Given the description of an element on the screen output the (x, y) to click on. 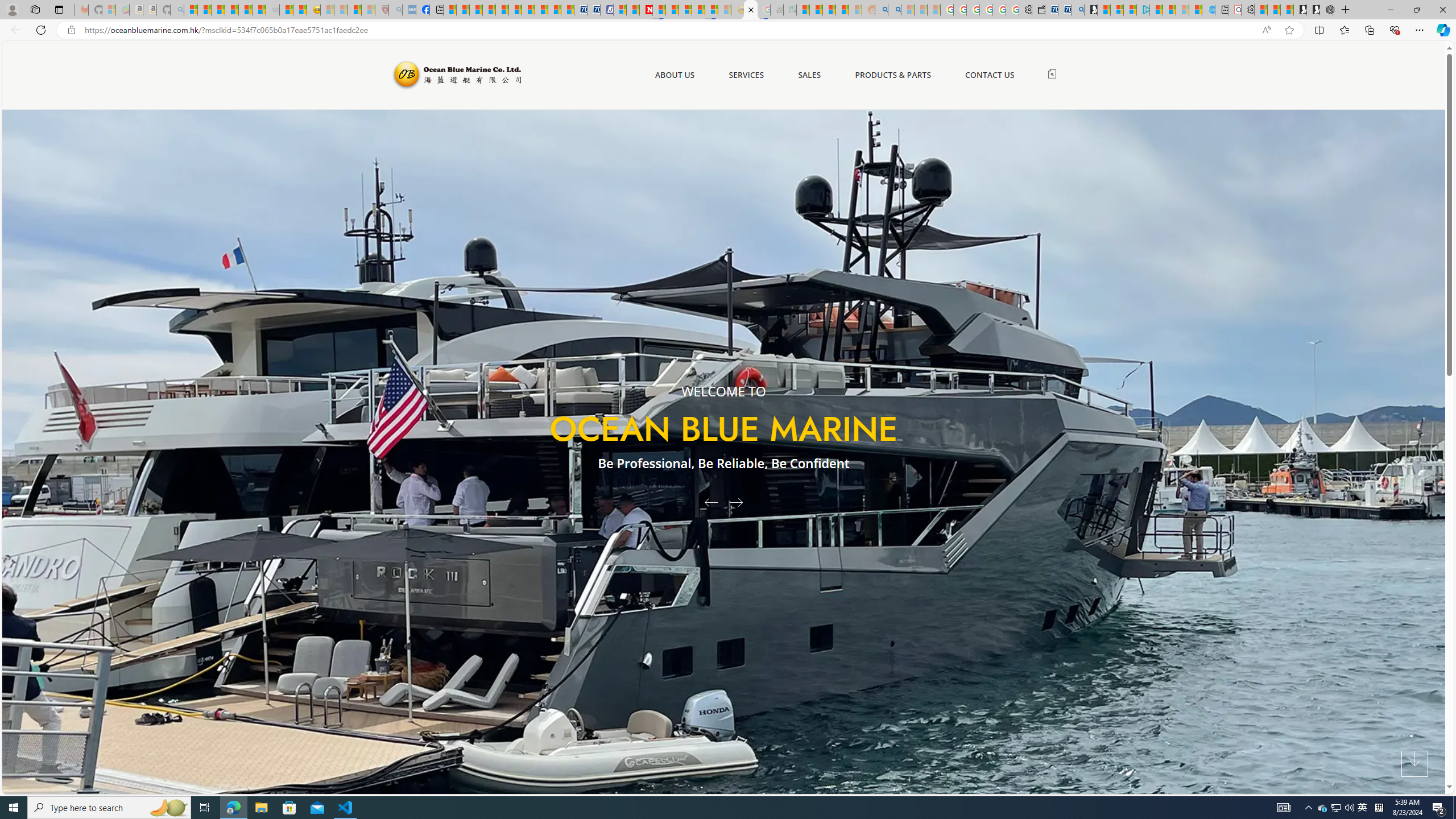
CONTACT US (989, 74)
